Given the description of an element on the screen output the (x, y) to click on. 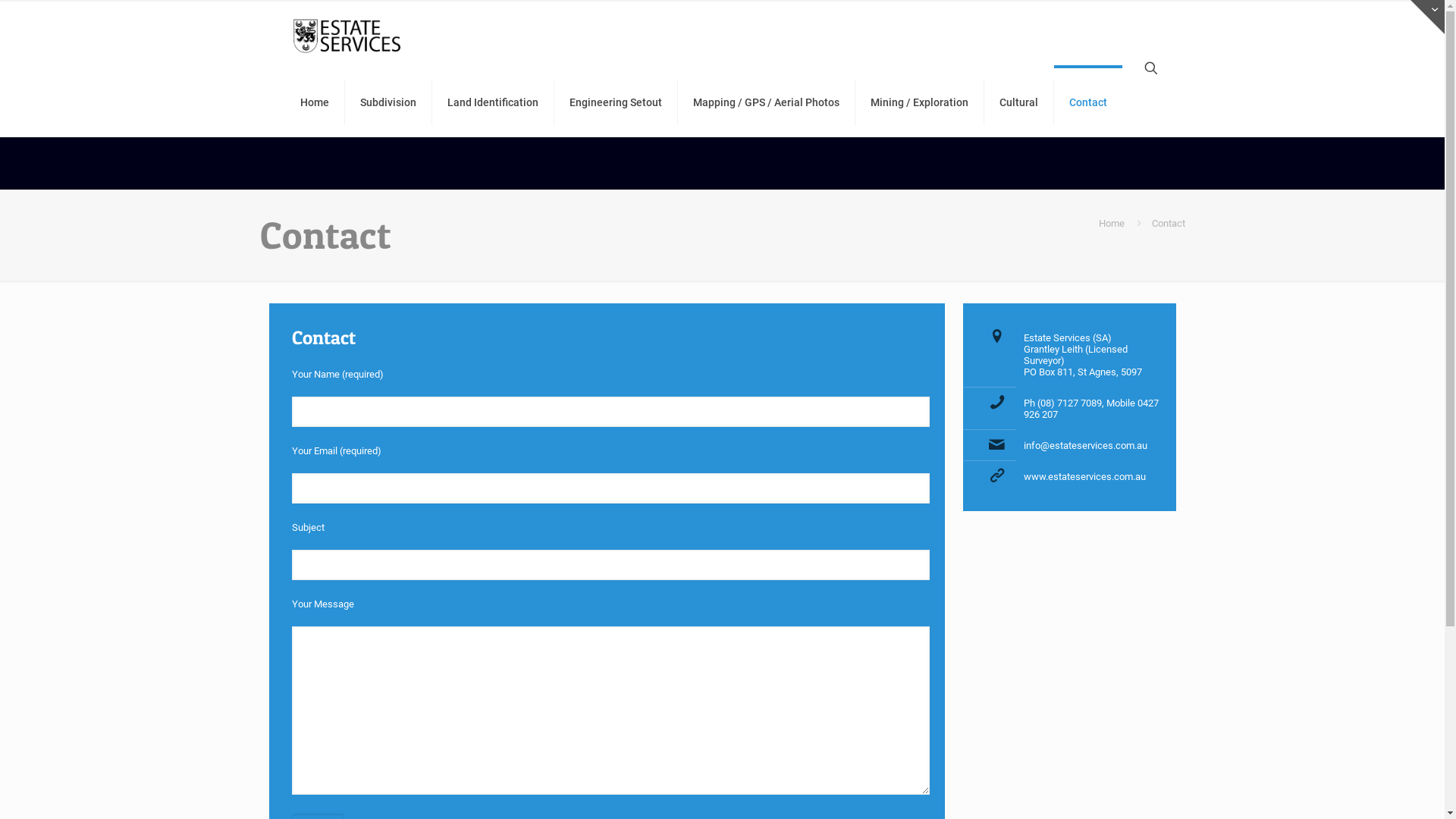
info@estateservices.com.au Element type: text (1085, 445)
Contact Element type: text (1088, 102)
Mining / Exploration Element type: text (919, 102)
Mapping / GPS / Aerial Photos Element type: text (766, 102)
Home Element type: text (315, 102)
Land Identification Element type: text (493, 102)
www.estateservices.com.au Element type: text (1084, 476)
Engineering Setout Element type: text (615, 102)
Ph (08) 7127 7089, Mobile 0427 926 207 Element type: text (1090, 408)
Subdivision Element type: text (387, 102)
Home Element type: text (1110, 223)
Cultural Element type: text (1019, 102)
